Given the description of an element on the screen output the (x, y) to click on. 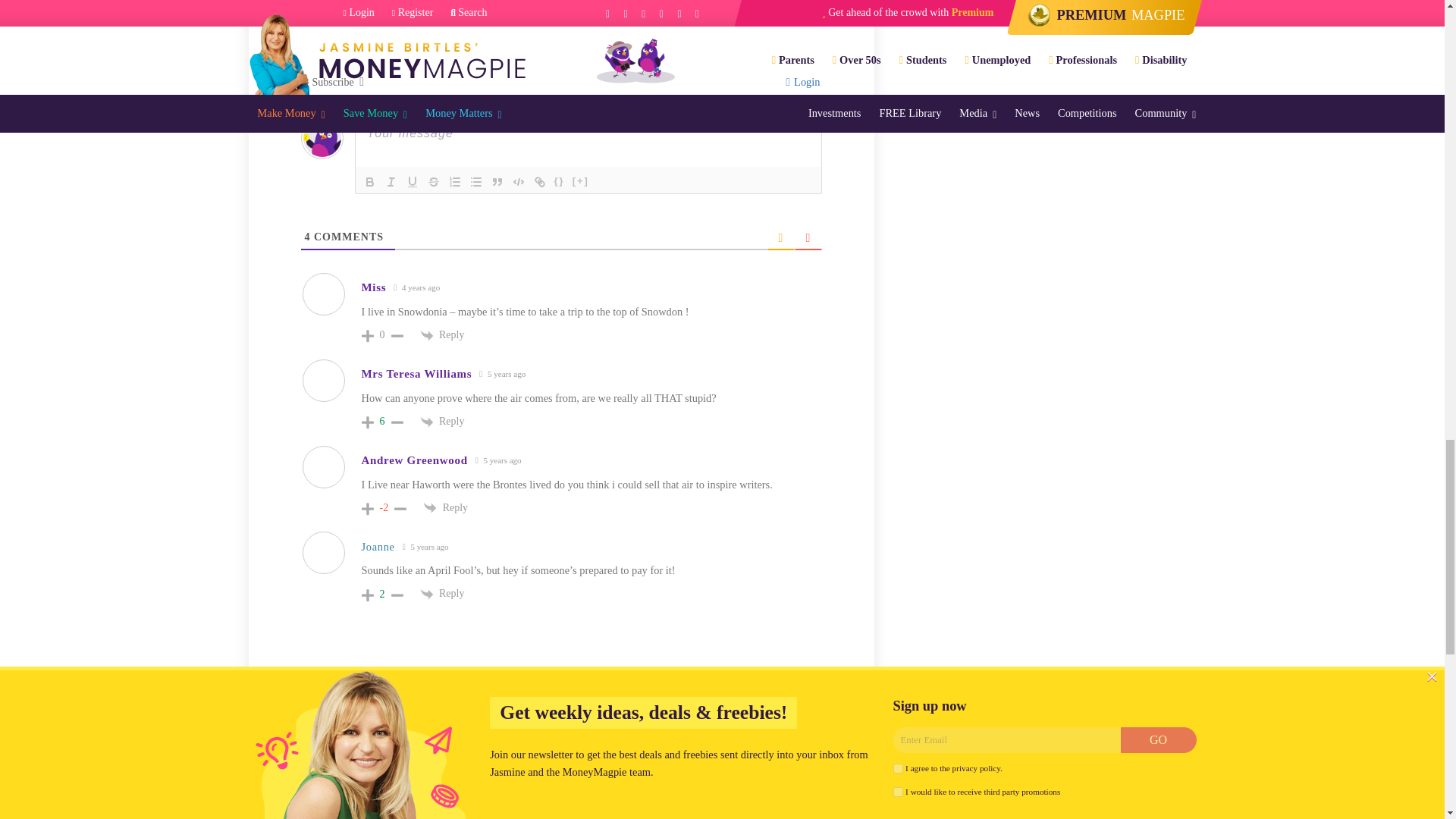
Strike (433, 181)
Bold (369, 181)
Italic (390, 181)
Underline (412, 181)
Ordered List (454, 181)
Blockquote (497, 181)
Unordered List (475, 181)
